Given the description of an element on the screen output the (x, y) to click on. 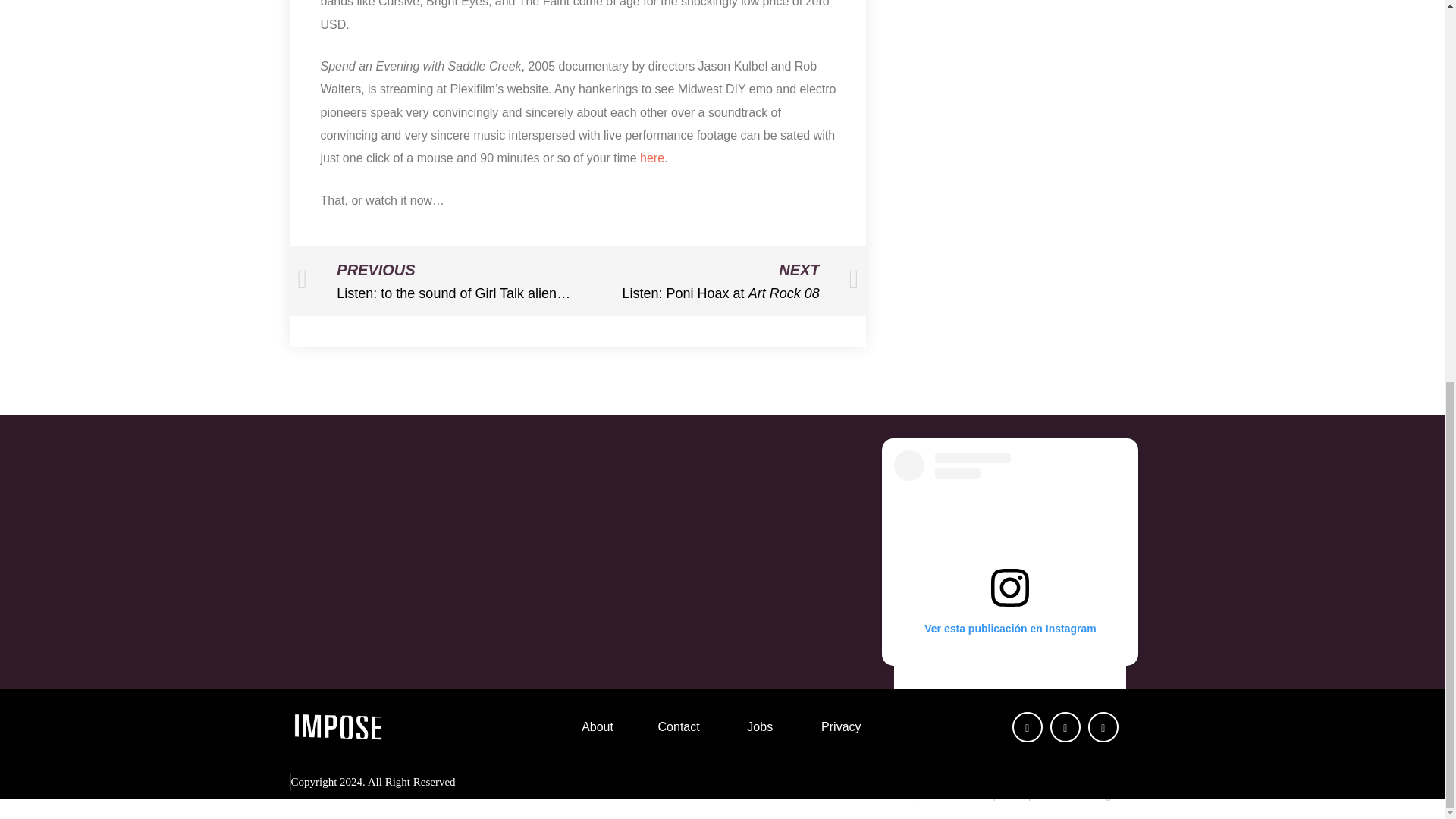
here (651, 158)
Twitter Timeline (718, 280)
